Given the description of an element on the screen output the (x, y) to click on. 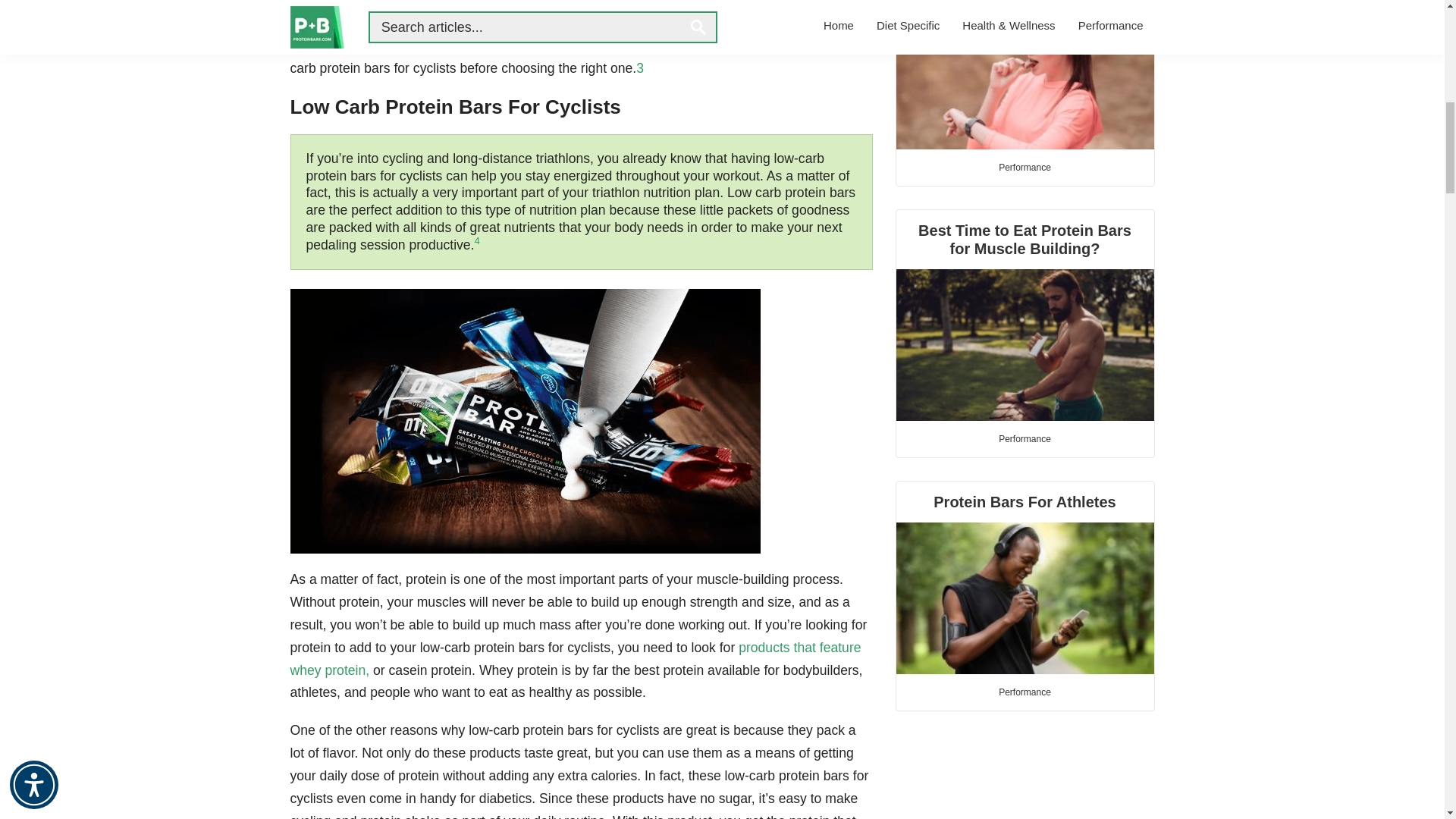
products that feature whey protein, (574, 658)
Best Time to Eat Protein Bars for Muscle Building? (1025, 314)
Protein Bars For Athletes - Protein Bars (1025, 598)
The best protein bars for sports and exercise (1025, 74)
The best protein bars for sports and exercise - Protein Bars (1025, 74)
Protein Bars For Athletes (1025, 577)
